Given the description of an element on the screen output the (x, y) to click on. 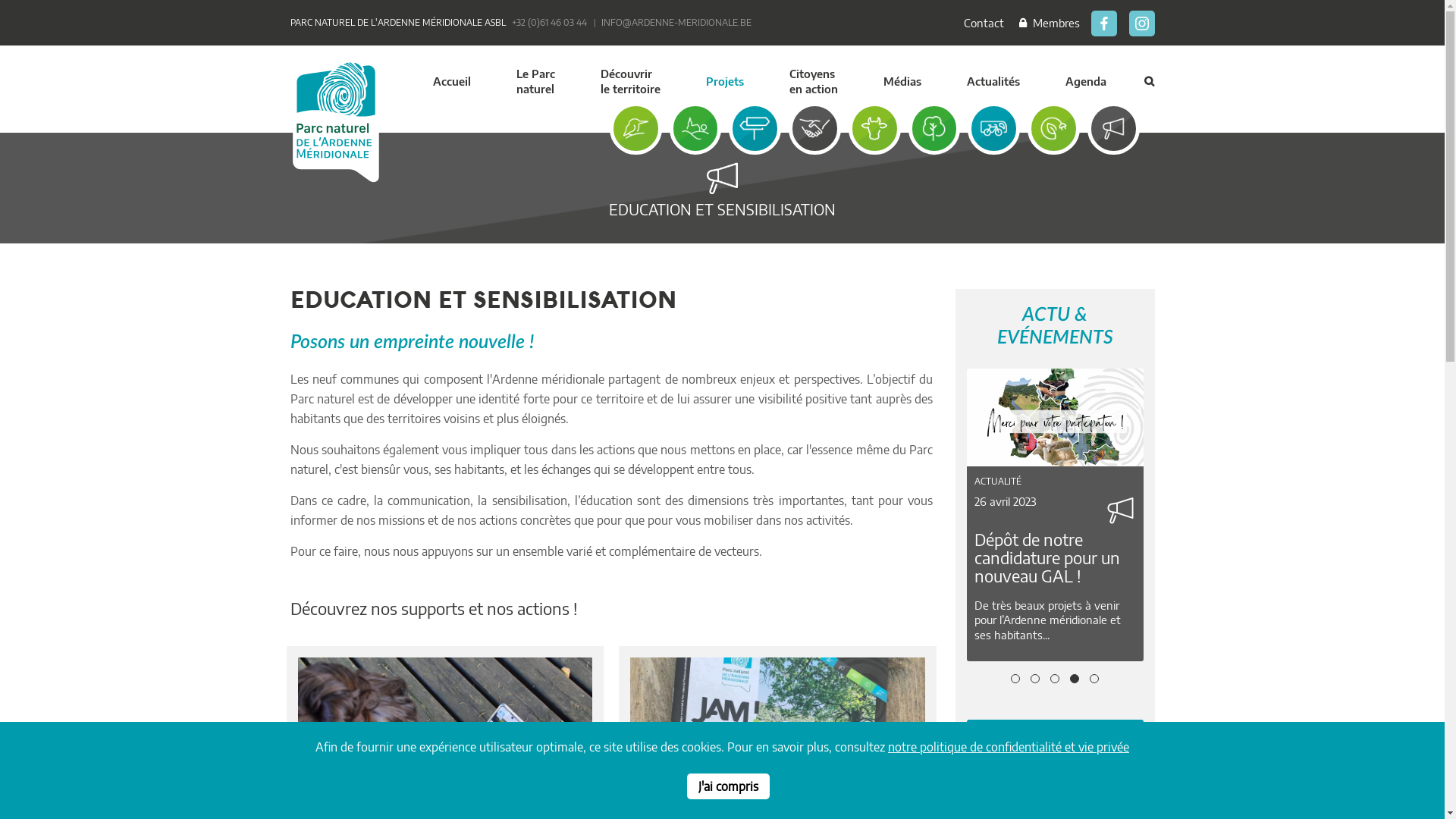
Accueil Element type: text (451, 85)
 Membres Element type: text (1049, 22)
Agenda Element type: text (1084, 85)
J'ai compris Element type: text (728, 786)
Citoyens
en action Element type: text (812, 85)
CONSULTER L'AGENDA Element type: text (1055, 751)
Contact Element type: text (983, 22)
INFO@ARDENNE-MERIDIONALE.BE Element type: text (675, 22)
Le Parc
naturel Element type: text (534, 85)
Projets Element type: text (724, 85)
